Given the description of an element on the screen output the (x, y) to click on. 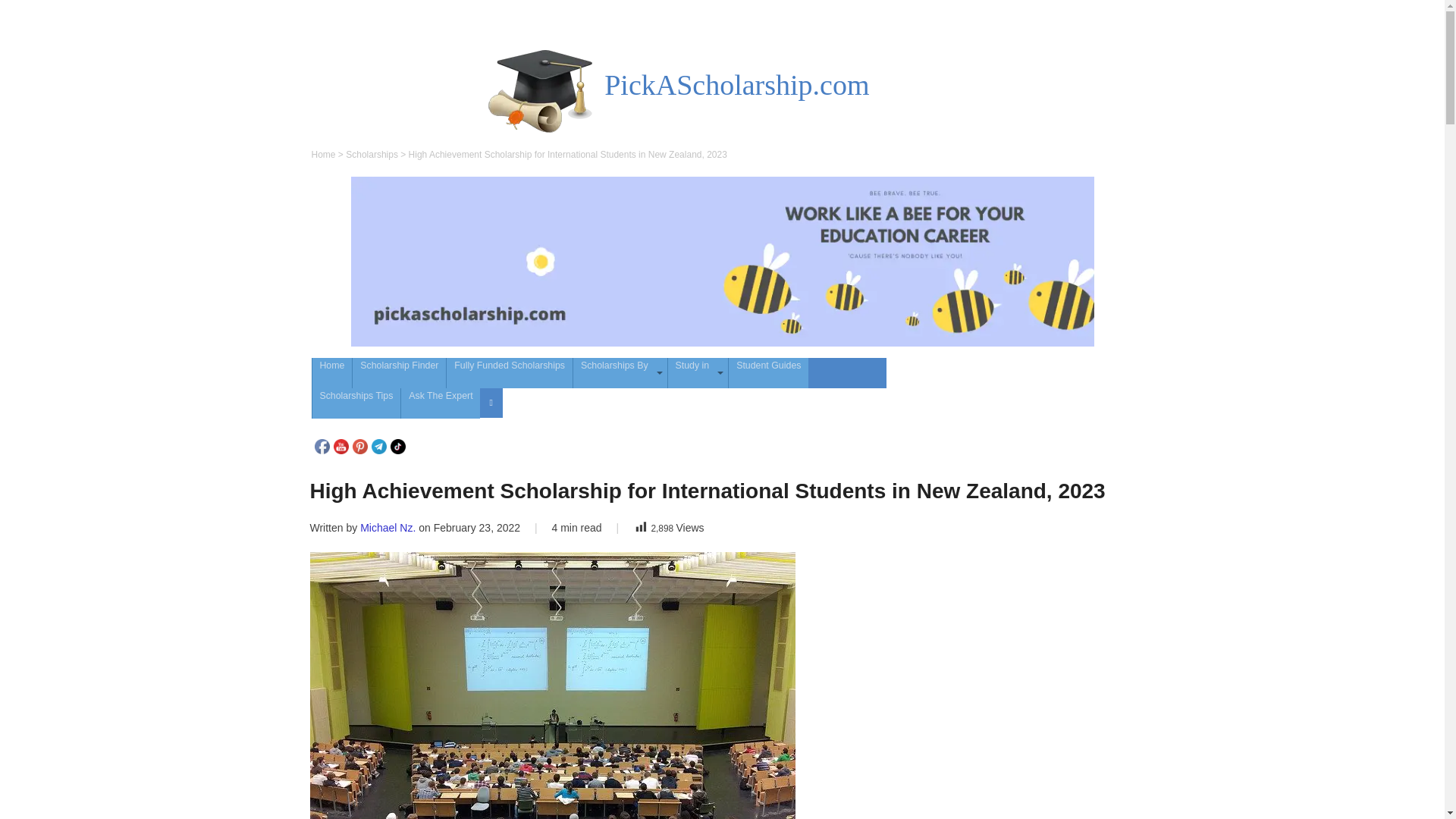
Facebook (321, 446)
Fully Funded Scholarships (509, 372)
Home (322, 154)
PickAScholarship.com (736, 84)
Telegram (379, 446)
YouTube (341, 446)
Pinterest (359, 446)
Home (332, 372)
Tiktok (397, 446)
Scholarship Finder (398, 372)
